Given the description of an element on the screen output the (x, y) to click on. 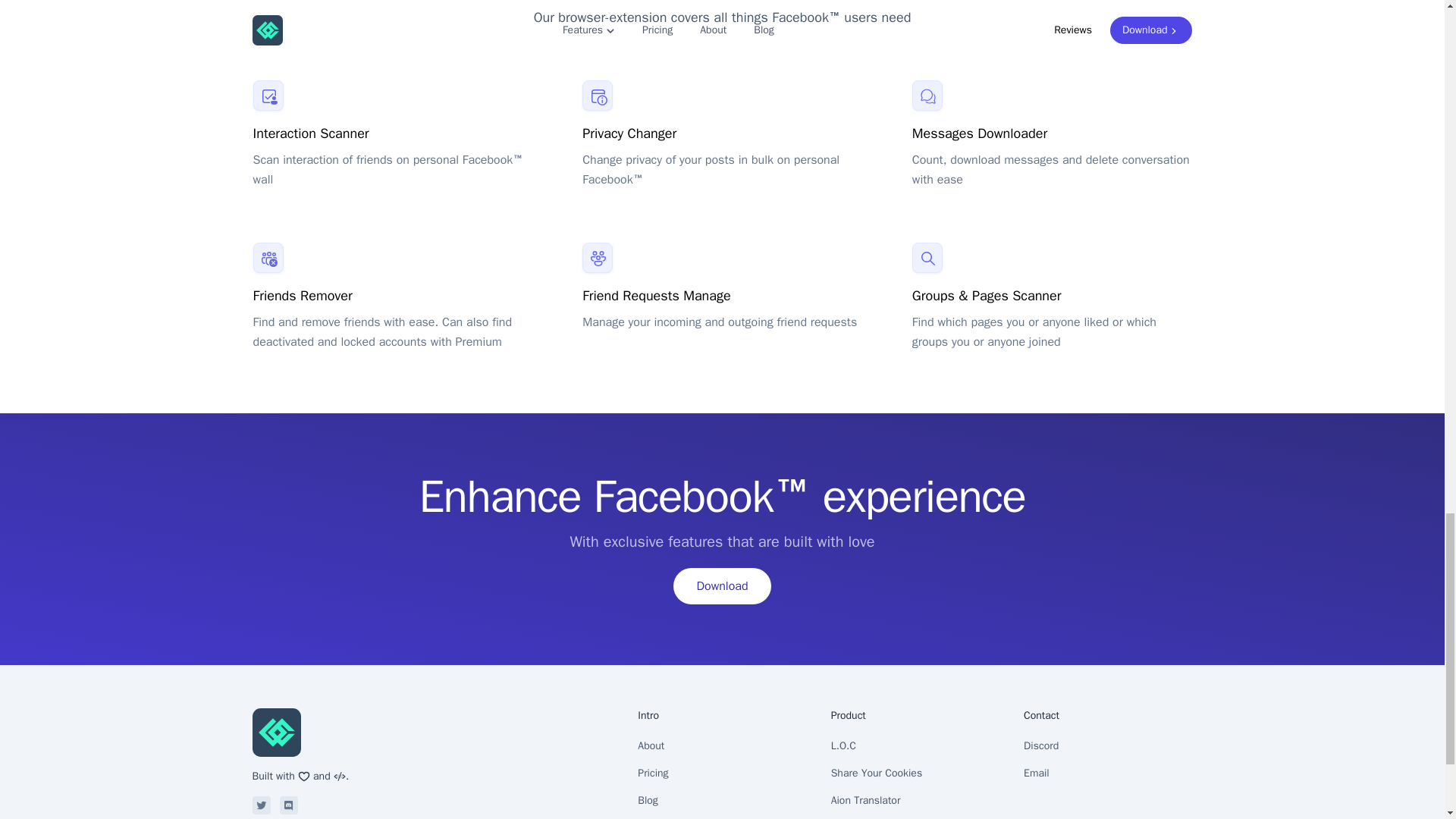
Twitter or X (260, 805)
Pricing (721, 773)
Share Your Cookies (914, 773)
Blog (721, 800)
L.O.C (914, 746)
Discord (288, 805)
Download (721, 586)
Email (1107, 773)
Aion Translator (914, 800)
Discord (1107, 746)
About (721, 746)
